Given the description of an element on the screen output the (x, y) to click on. 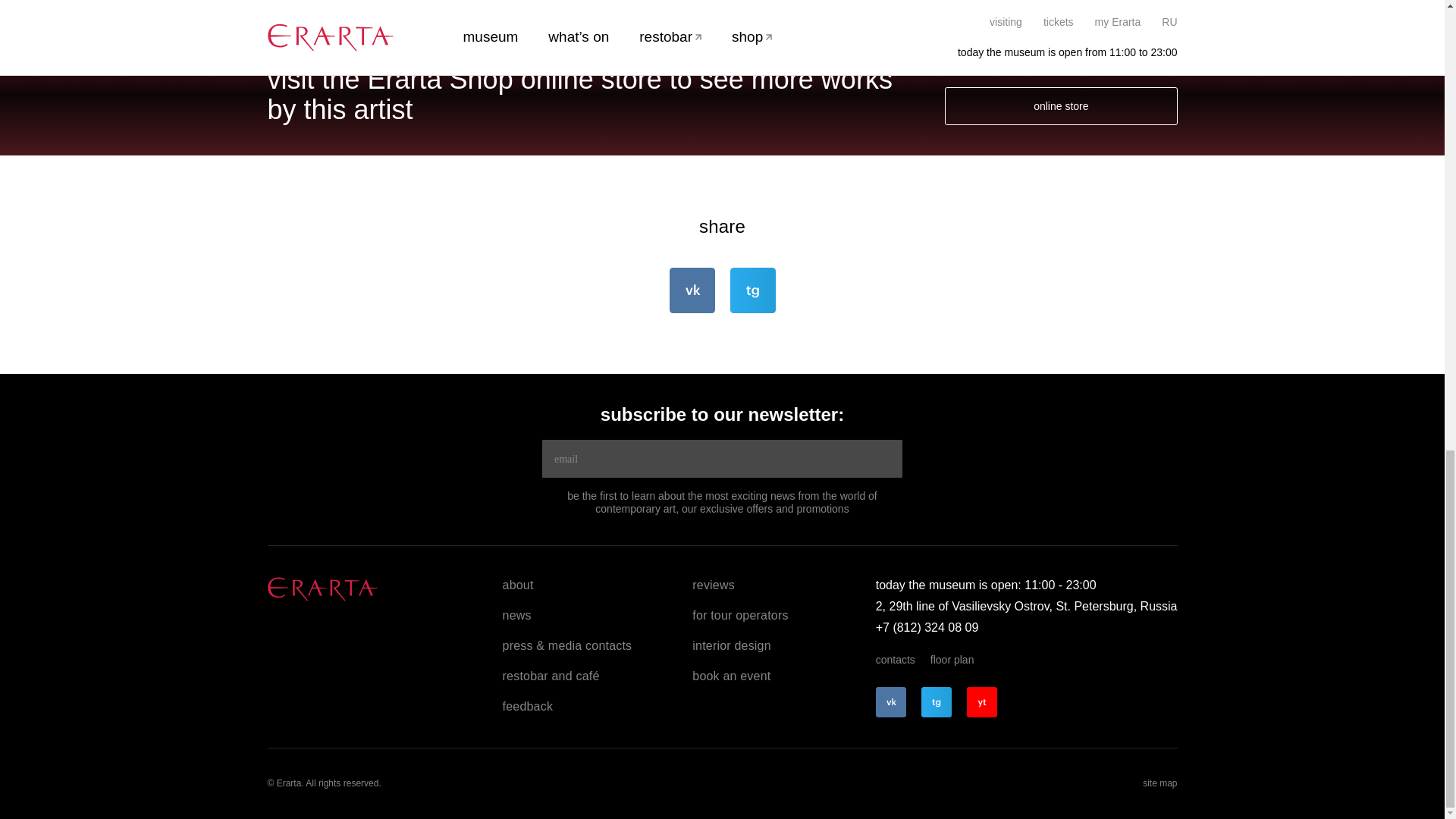
online store (1060, 105)
